Given the description of an element on the screen output the (x, y) to click on. 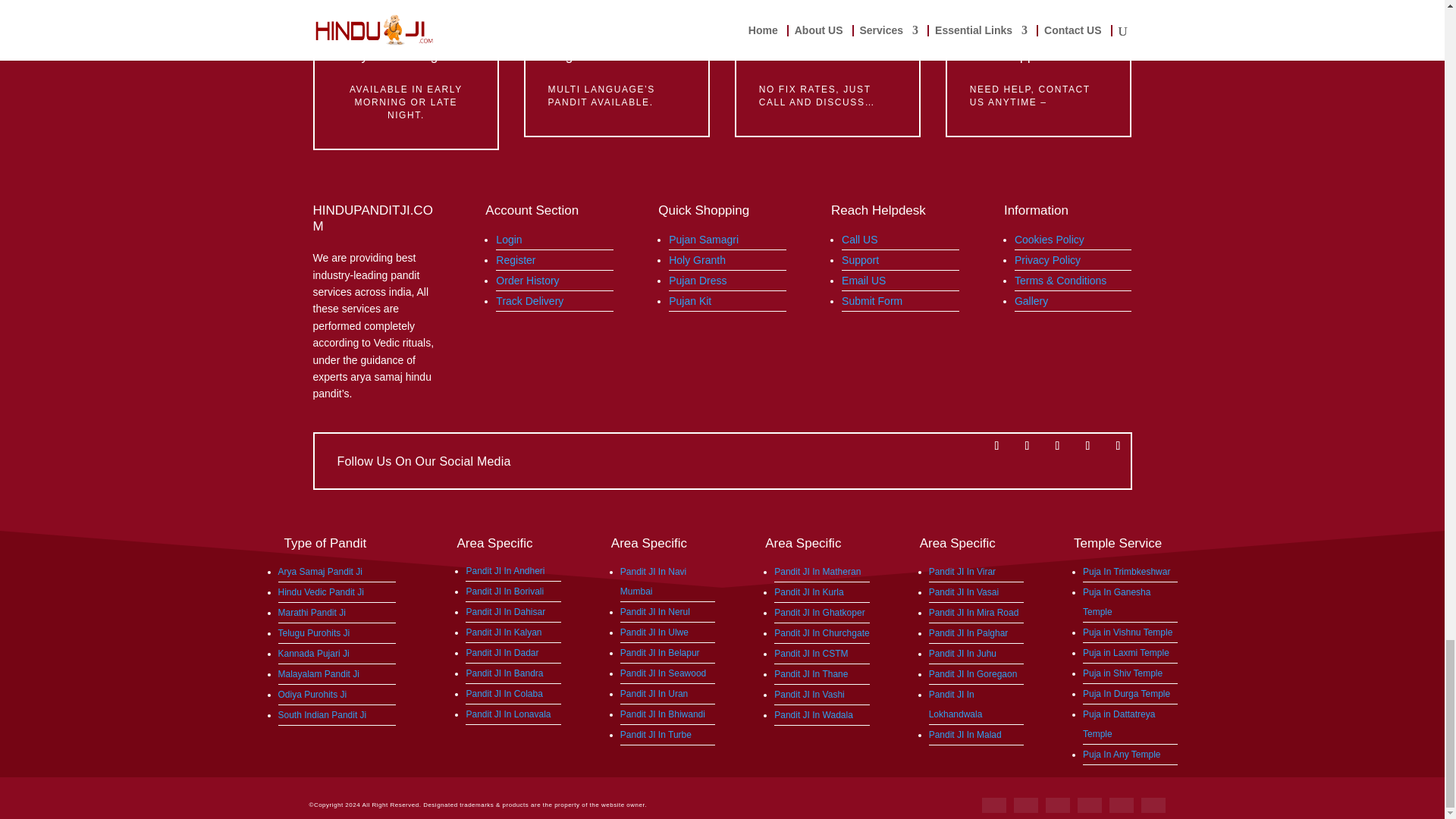
Follow on X (1026, 445)
Follow on LinkedIn (1117, 445)
Follow on Instagram (1056, 445)
Follow on Facebook (996, 445)
Follow on WhatsApp (1087, 445)
